Given the description of an element on the screen output the (x, y) to click on. 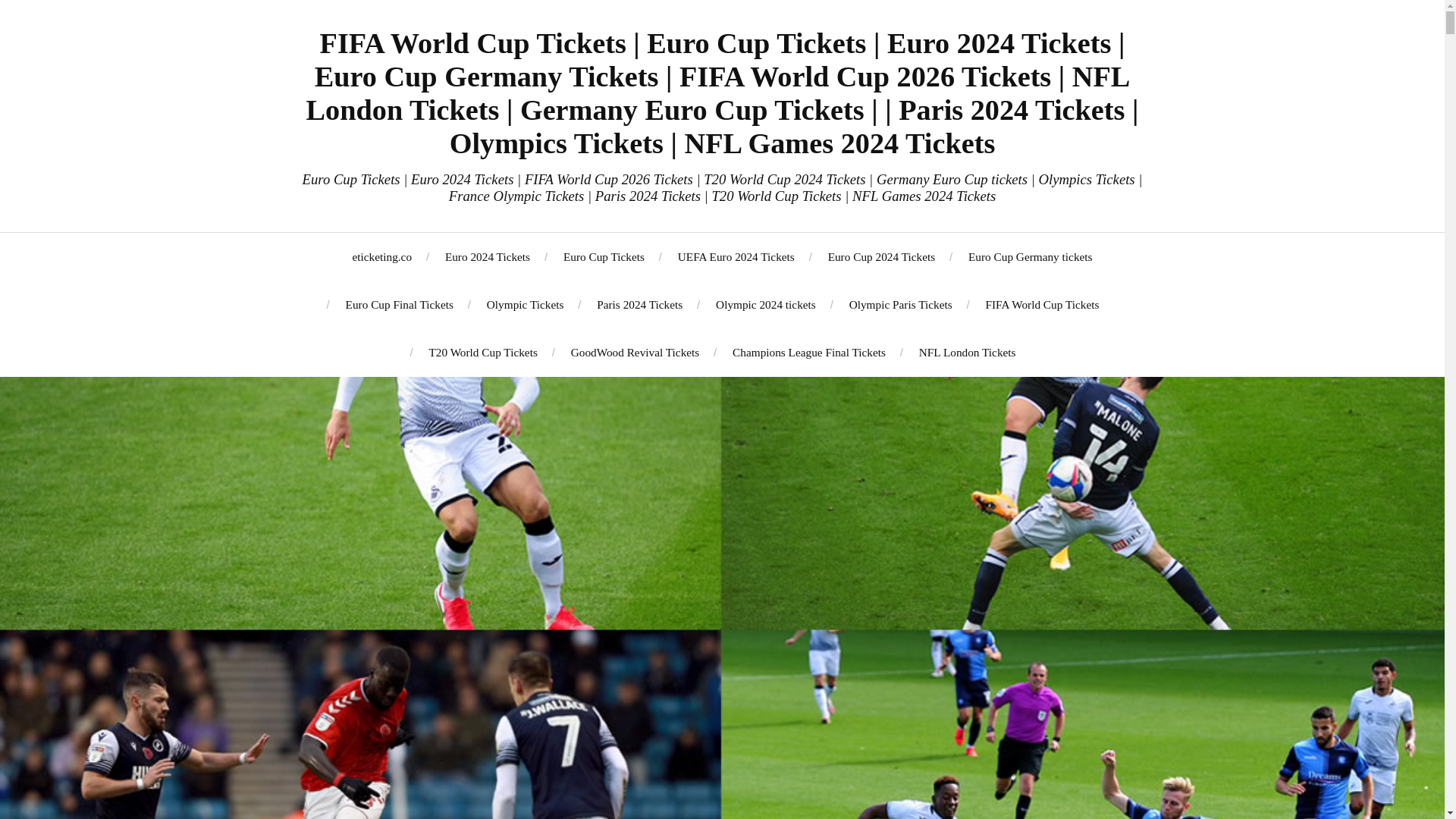
Euro Cup 2024 Tickets (882, 256)
Euro Cup Germany tickets (1030, 256)
Euro Cup Tickets (604, 256)
T20 World Cup Tickets (482, 351)
Paris 2024 Tickets (639, 304)
FIFA World Cup Tickets (1042, 304)
Champions League Final Tickets (808, 351)
Euro Cup Final Tickets (399, 304)
Olympic Tickets (525, 304)
GoodWood Revival Tickets (635, 351)
Olympic Paris Tickets (900, 304)
Olympic 2024 tickets (765, 304)
Euro 2024 Tickets (487, 256)
eticketing.co (382, 256)
NFL London Tickets (967, 351)
